Given the description of an element on the screen output the (x, y) to click on. 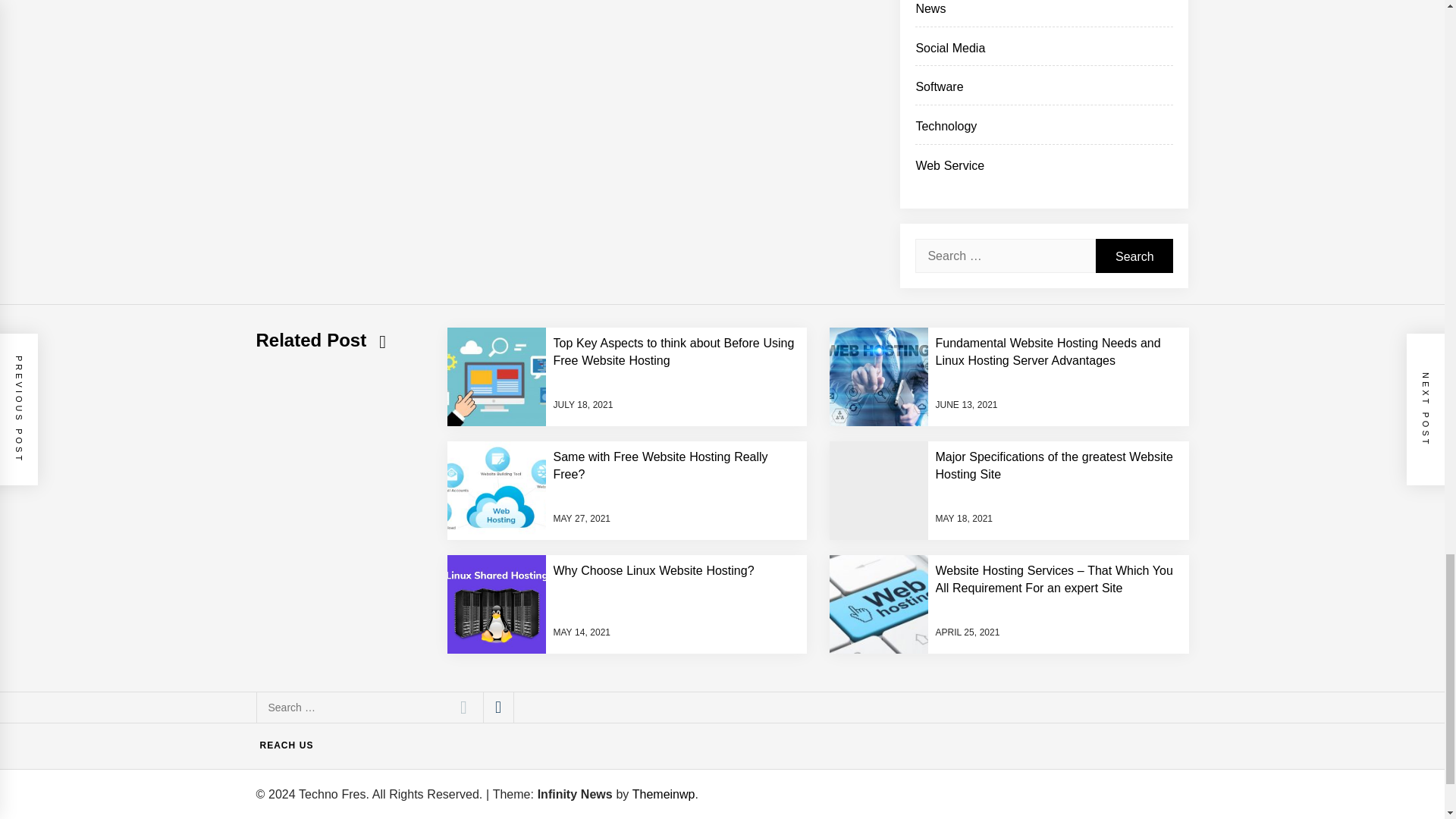
Search (1134, 255)
Search (1134, 255)
Search (462, 707)
Search (462, 707)
